Given the description of an element on the screen output the (x, y) to click on. 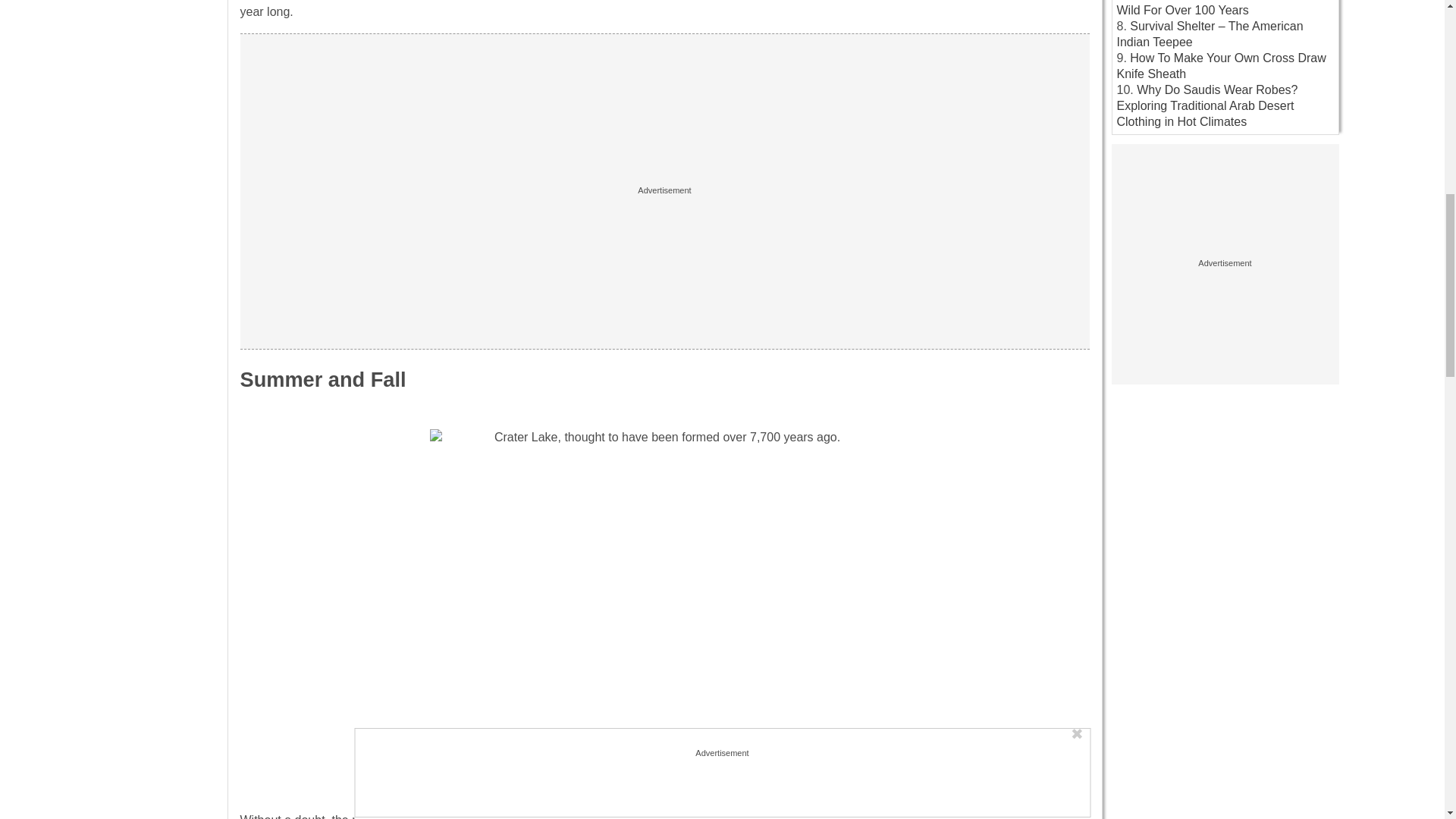
The First Wolverines Seen In The Wild For Over 100 Years (1213, 8)
How To Make Your Own Cross Draw Knife Sheath (1220, 65)
